Given the description of an element on the screen output the (x, y) to click on. 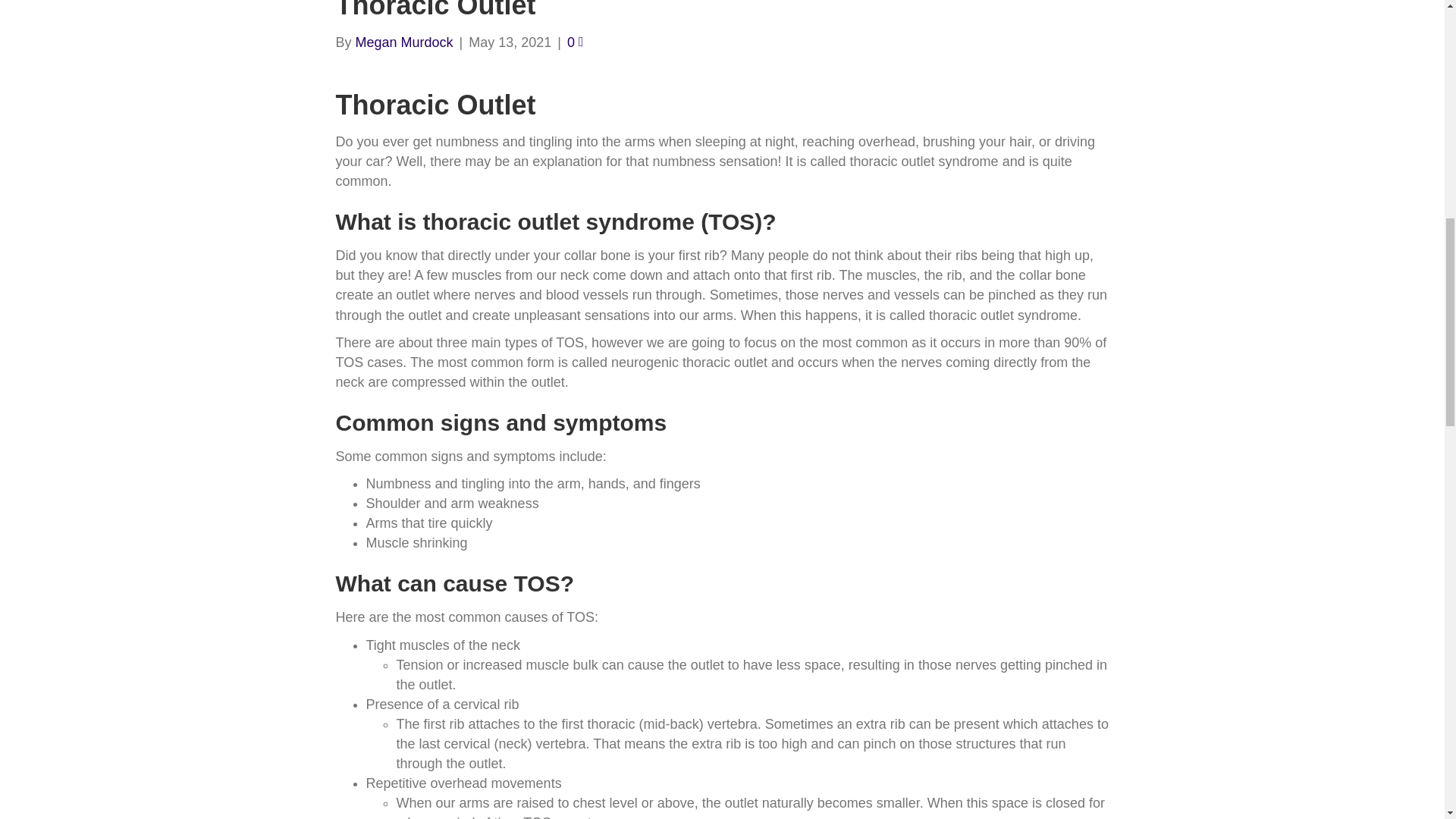
Megan Murdock (403, 42)
0 (575, 42)
